Given the description of an element on the screen output the (x, y) to click on. 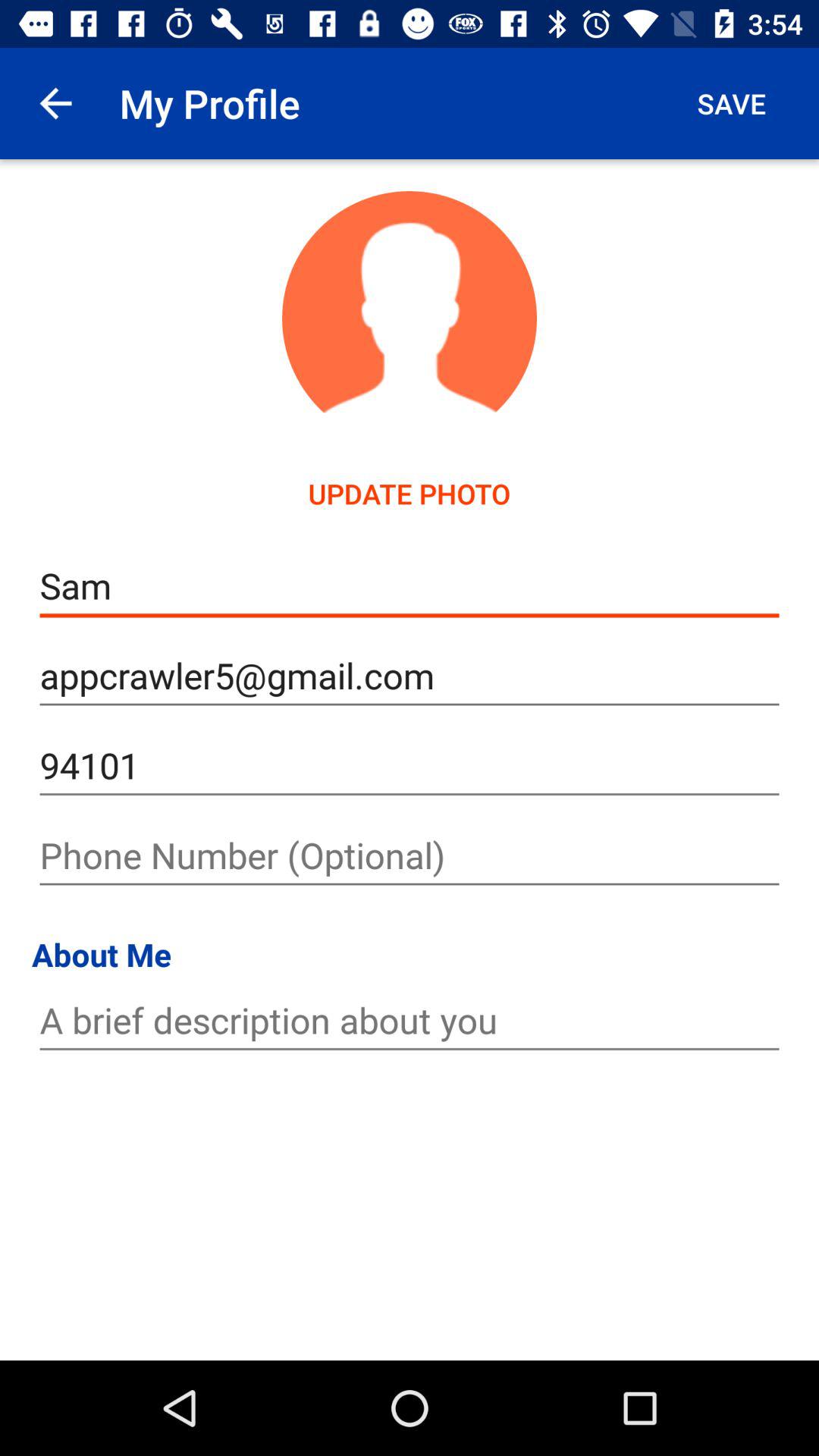
click the item below the appcrawler5@gmail.com icon (409, 766)
